Given the description of an element on the screen output the (x, y) to click on. 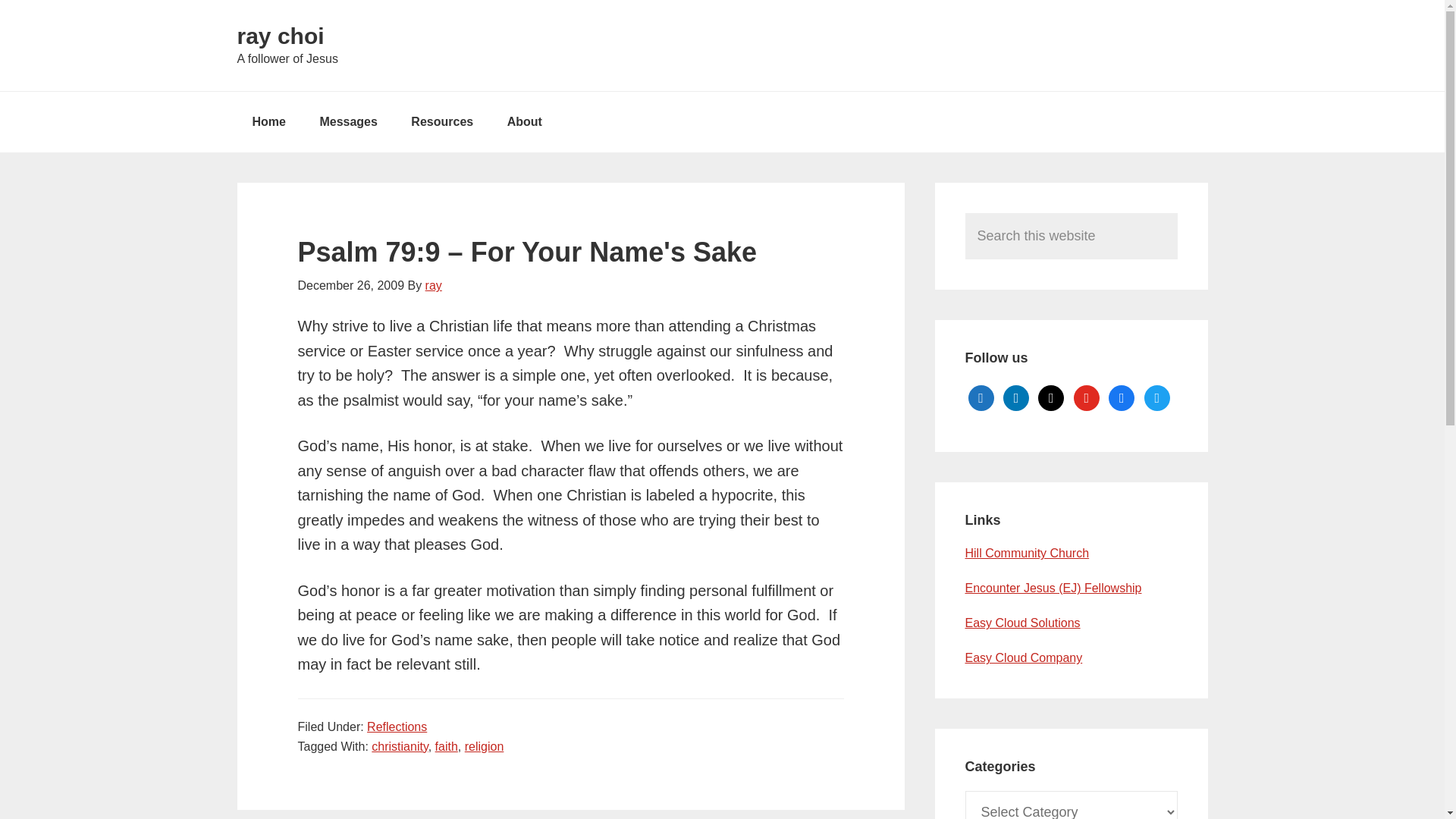
Home (267, 121)
ray choi (279, 35)
Facebook (1121, 396)
Messages (348, 121)
Twitter (1157, 396)
